Given the description of an element on the screen output the (x, y) to click on. 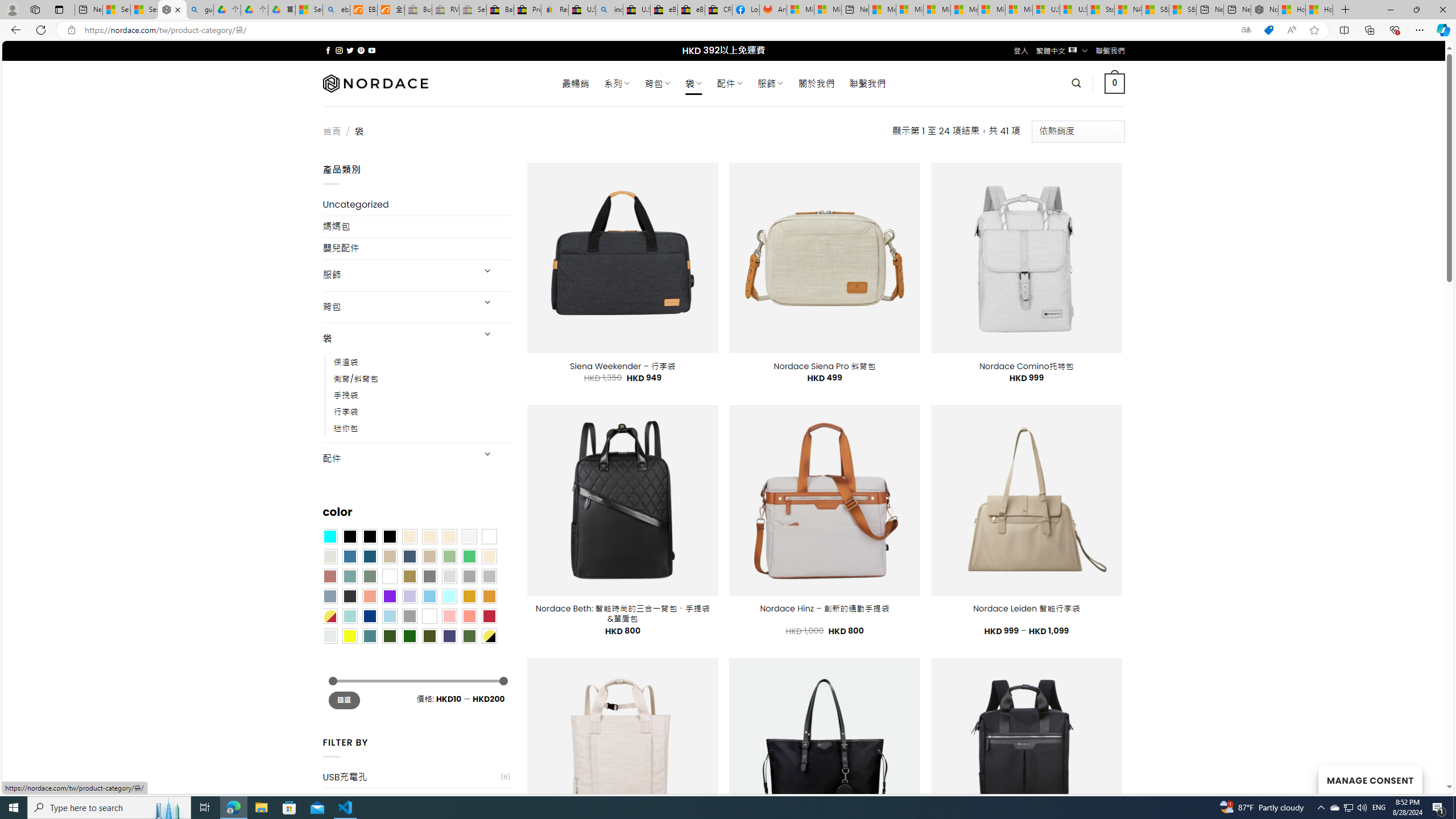
ebay - Search (336, 9)
